Given the description of an element on the screen output the (x, y) to click on. 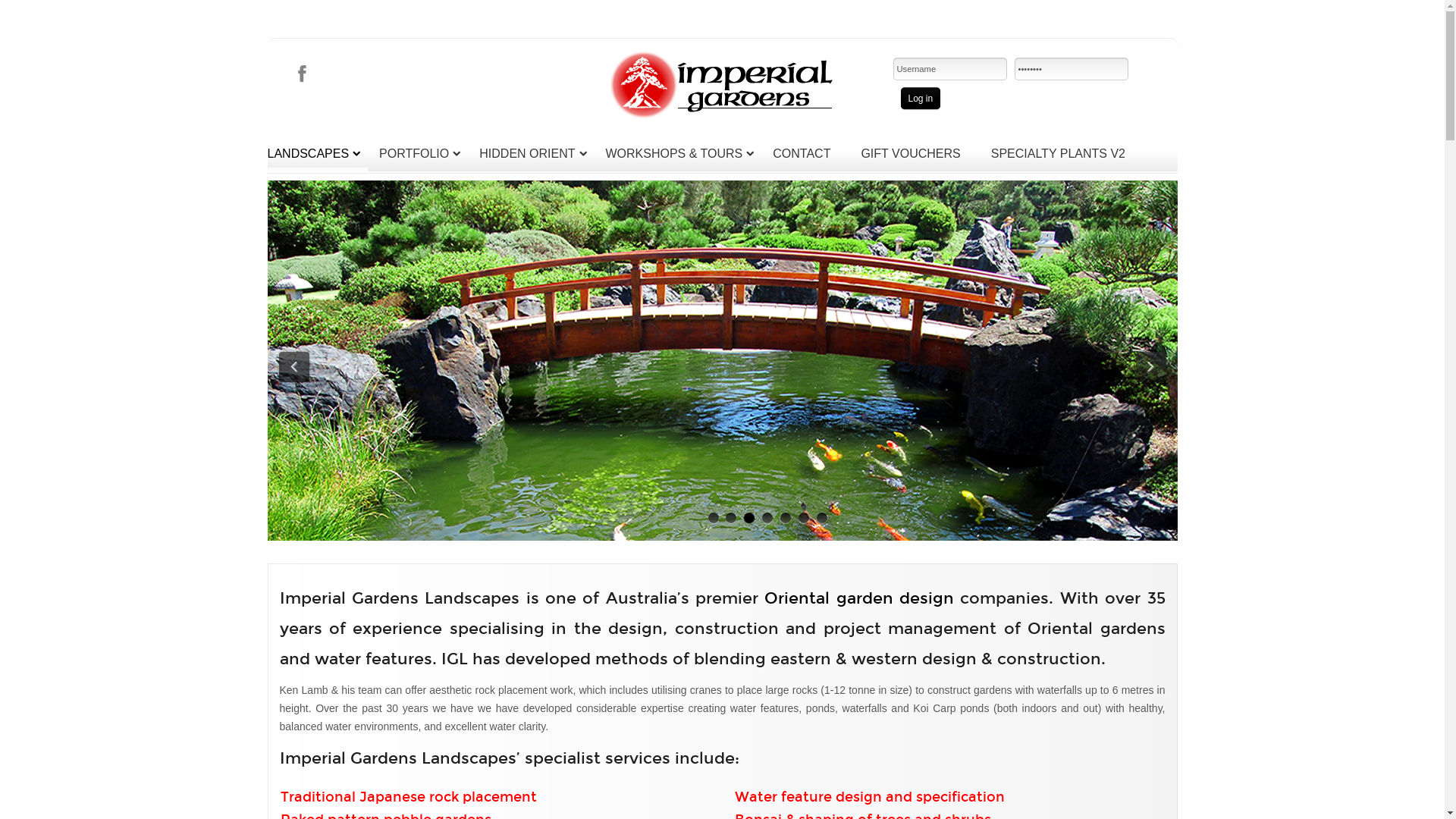
GIFT VOUCHERS Element type: text (919, 153)
Oriental garden design Element type: text (858, 598)
WORKSHOPS & TOURS Element type: text (683, 153)
HIDDEN ORIENT Element type: text (536, 153)
PORTFOLIO Element type: text (423, 153)
LANDSCAPES Element type: text (316, 153)
CONTACT Element type: text (810, 153)
SPECIALTY PLANTS V2 Element type: text (1067, 153)
Log in Element type: text (920, 98)
